Given the description of an element on the screen output the (x, y) to click on. 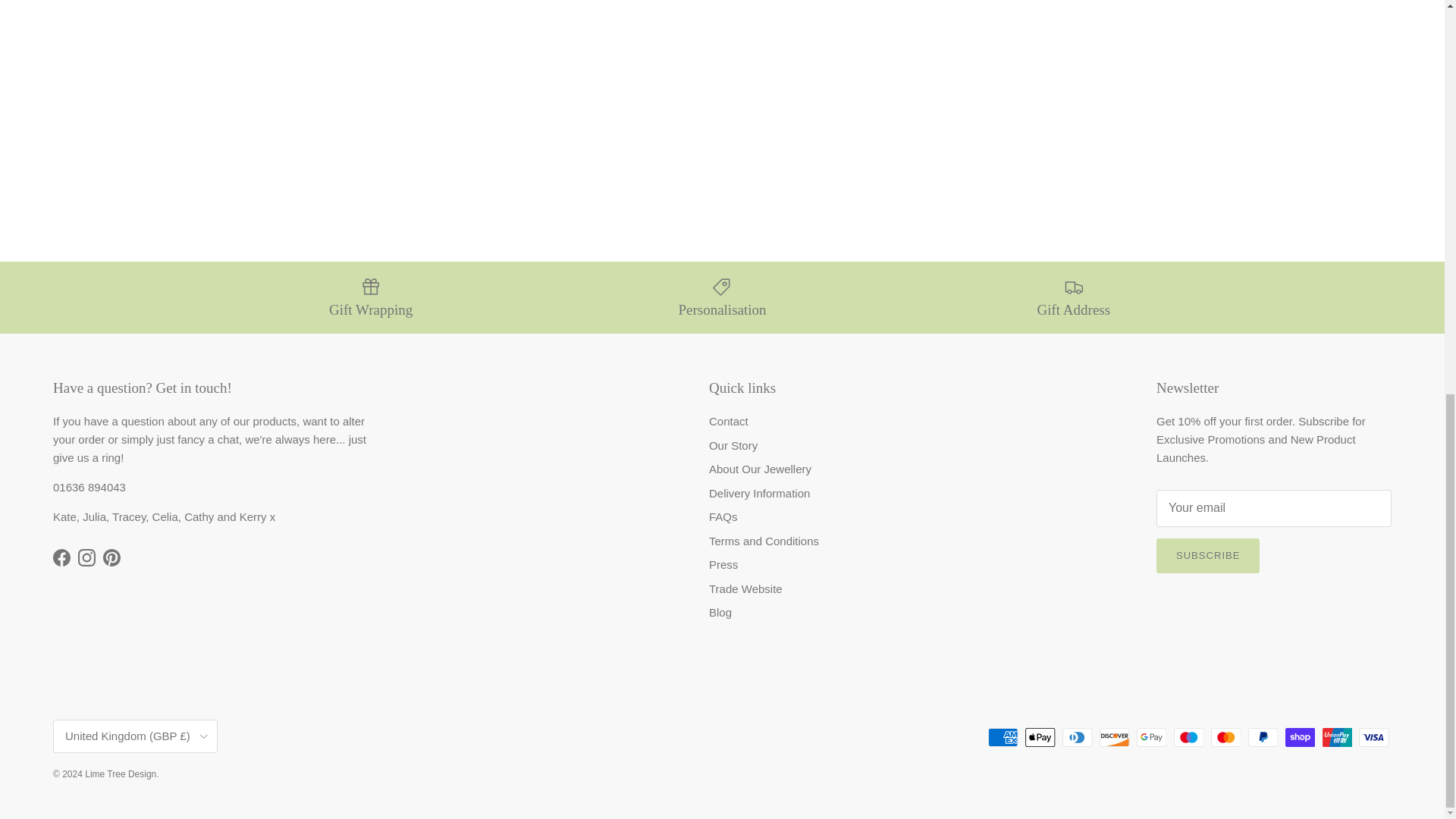
Apple Pay (1040, 737)
Lime Tree Design on Pinterest (111, 557)
Visa (1373, 737)
Union Pay (1337, 737)
Lime Tree Design on Instagram (87, 557)
Google Pay (1151, 737)
Discover (1114, 737)
Mastercard (1225, 737)
Maestro (1188, 737)
Lime Tree Design on Facebook (60, 557)
PayPal (1262, 737)
Shop Pay (1299, 737)
American Express (1002, 737)
Diners Club (1077, 737)
